Given the description of an element on the screen output the (x, y) to click on. 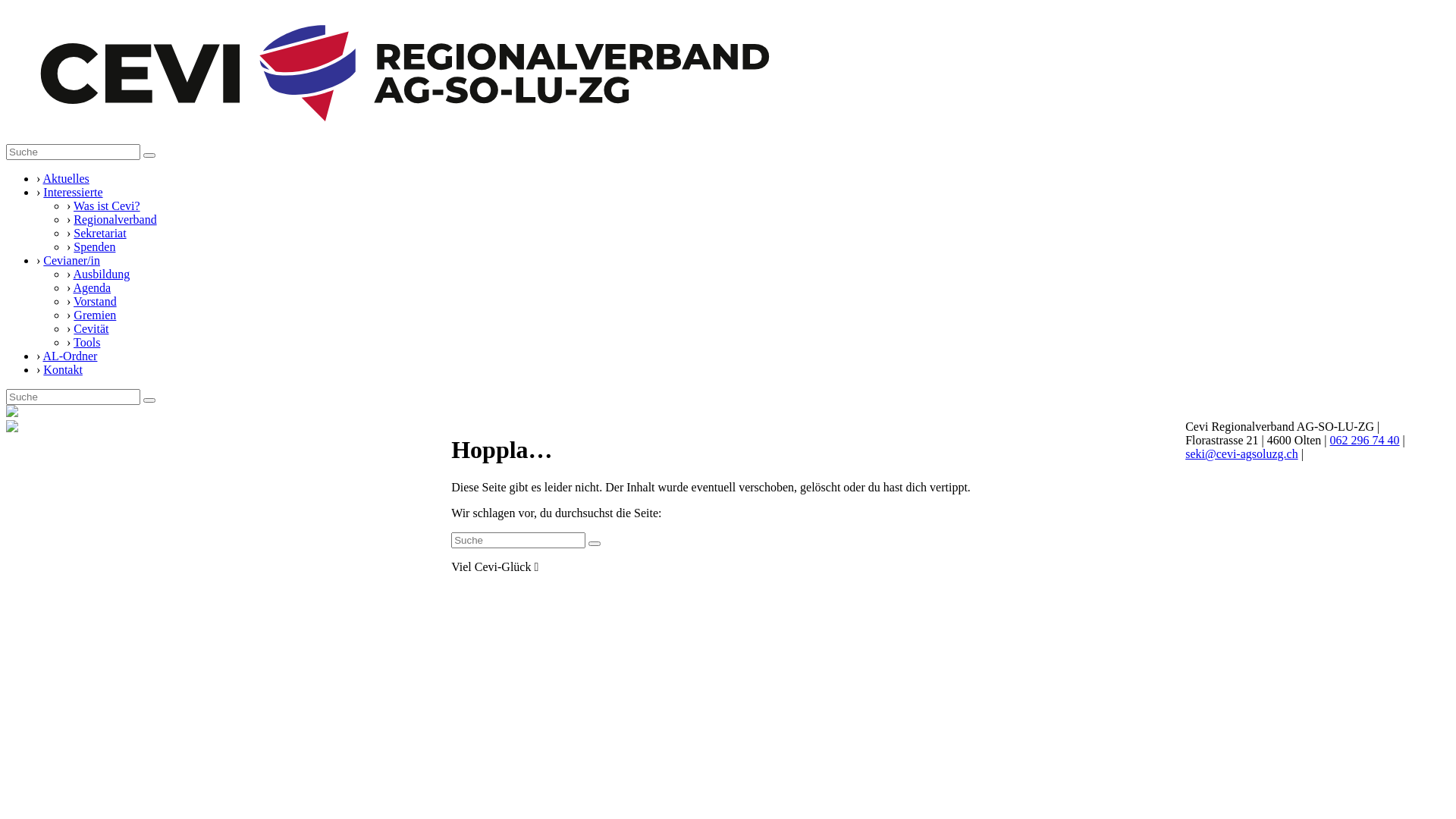
Ausbildung Element type: text (100, 273)
Vorstand Element type: text (94, 300)
Gremien Element type: text (94, 314)
Interessierte Element type: text (72, 191)
062 296 74 40 Element type: text (1364, 439)
Cevianer/in Element type: text (71, 260)
AL-Ordner Element type: text (69, 355)
Tools Element type: text (86, 341)
Kontakt Element type: text (62, 369)
Agenda Element type: text (91, 287)
Spenden Element type: text (94, 246)
Was ist Cevi? Element type: text (106, 205)
seki@cevi-agsoluzg.ch Element type: text (1241, 453)
Aktuelles Element type: text (65, 178)
Regionalverband Element type: text (114, 219)
Sekretariat Element type: text (99, 232)
